Given the description of an element on the screen output the (x, y) to click on. 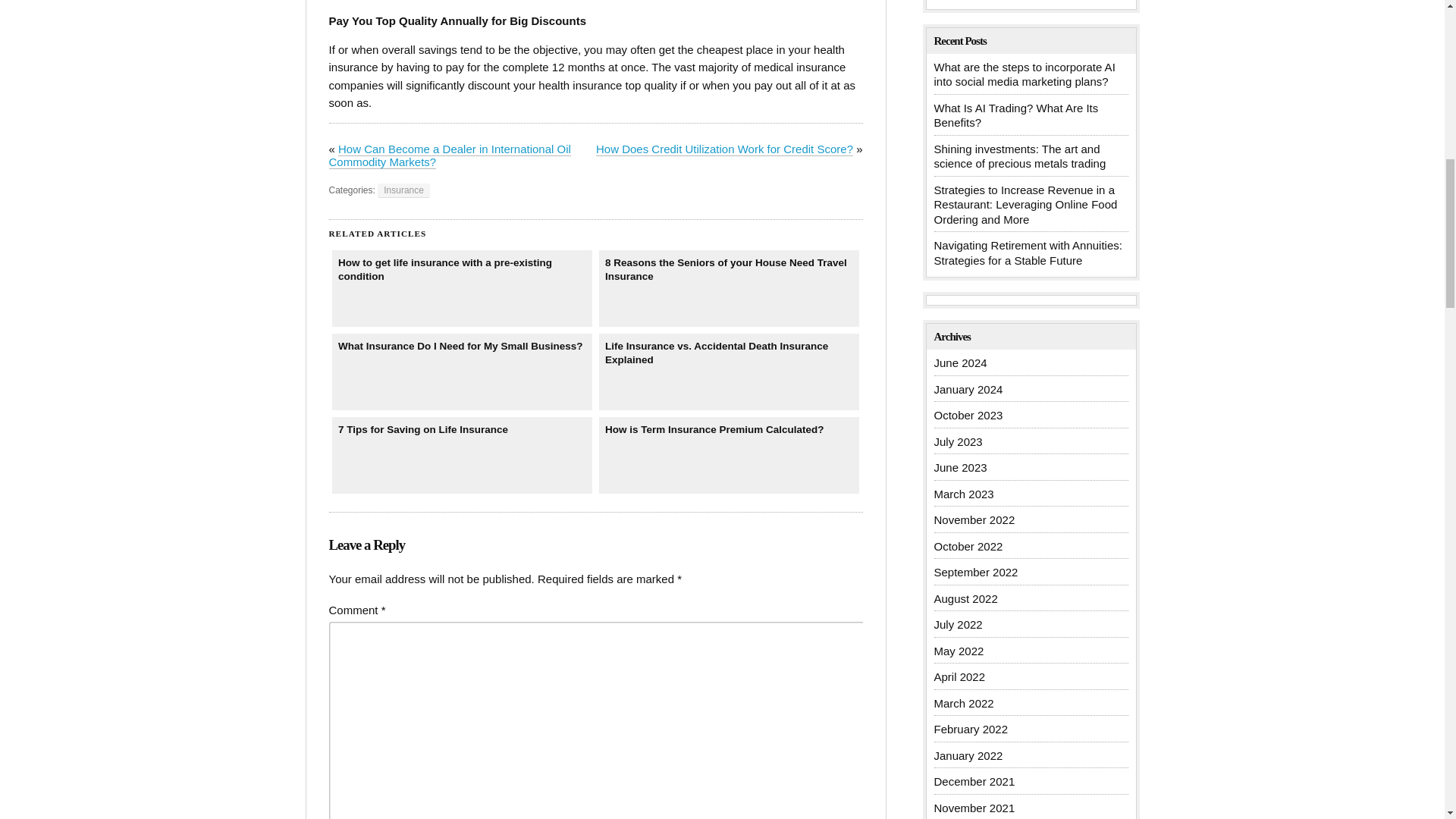
Insurance (403, 190)
What Insurance Do I Need for My Small Business? (461, 371)
7 Tips for Saving on Life Insurance (461, 455)
8 Reasons the Seniors of your House Need Travel Insurance (729, 288)
How Does Credit Utilization Work for Credit Score? (724, 149)
Life Insurance vs. Accidental Death Insurance Explained (729, 371)
How is Term Insurance Premium Calculated? (729, 455)
How to get life insurance with a pre-existing condition (461, 288)
